Given the description of an element on the screen output the (x, y) to click on. 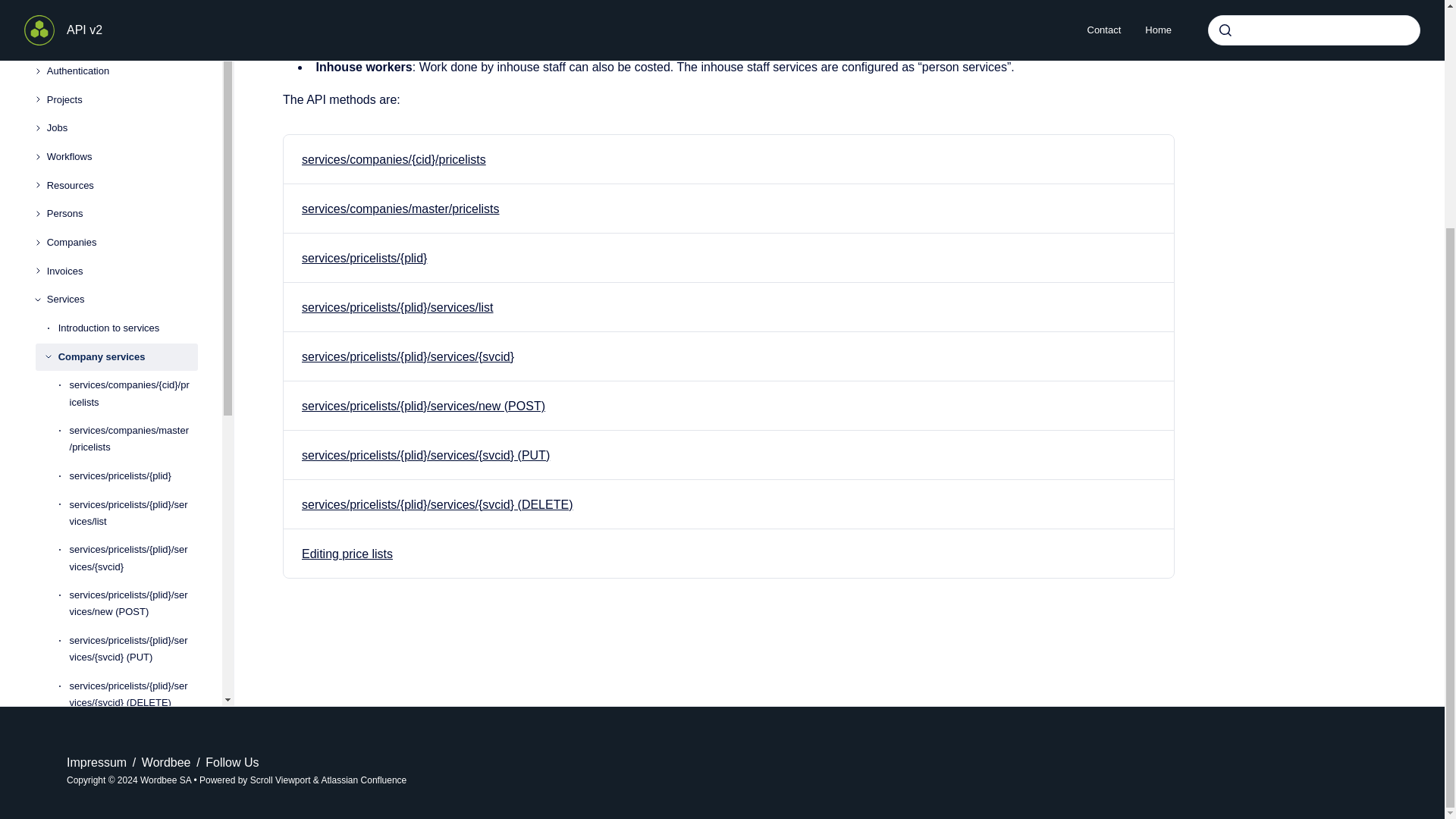
Company services (128, 164)
Introduction to services (128, 135)
Resources (122, 3)
Services (122, 107)
Companies (122, 49)
Invoices (122, 78)
Persons (122, 21)
Editing price lists (347, 553)
